Given the description of an element on the screen output the (x, y) to click on. 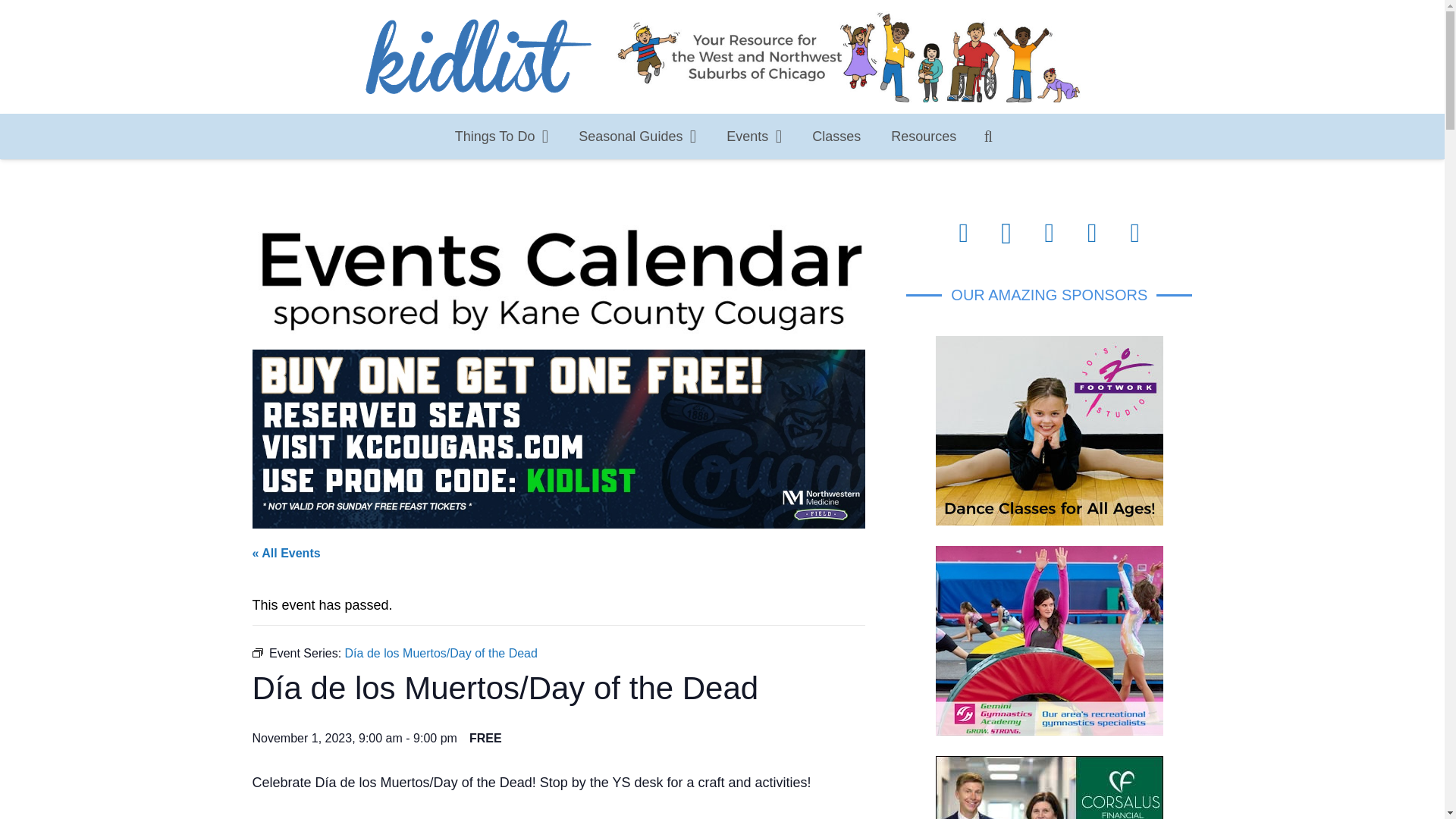
Seasonal Guides (637, 135)
Resources (923, 135)
Events (753, 135)
Classes (836, 135)
Things To Do (501, 135)
Event Series (256, 652)
